Given the description of an element on the screen output the (x, y) to click on. 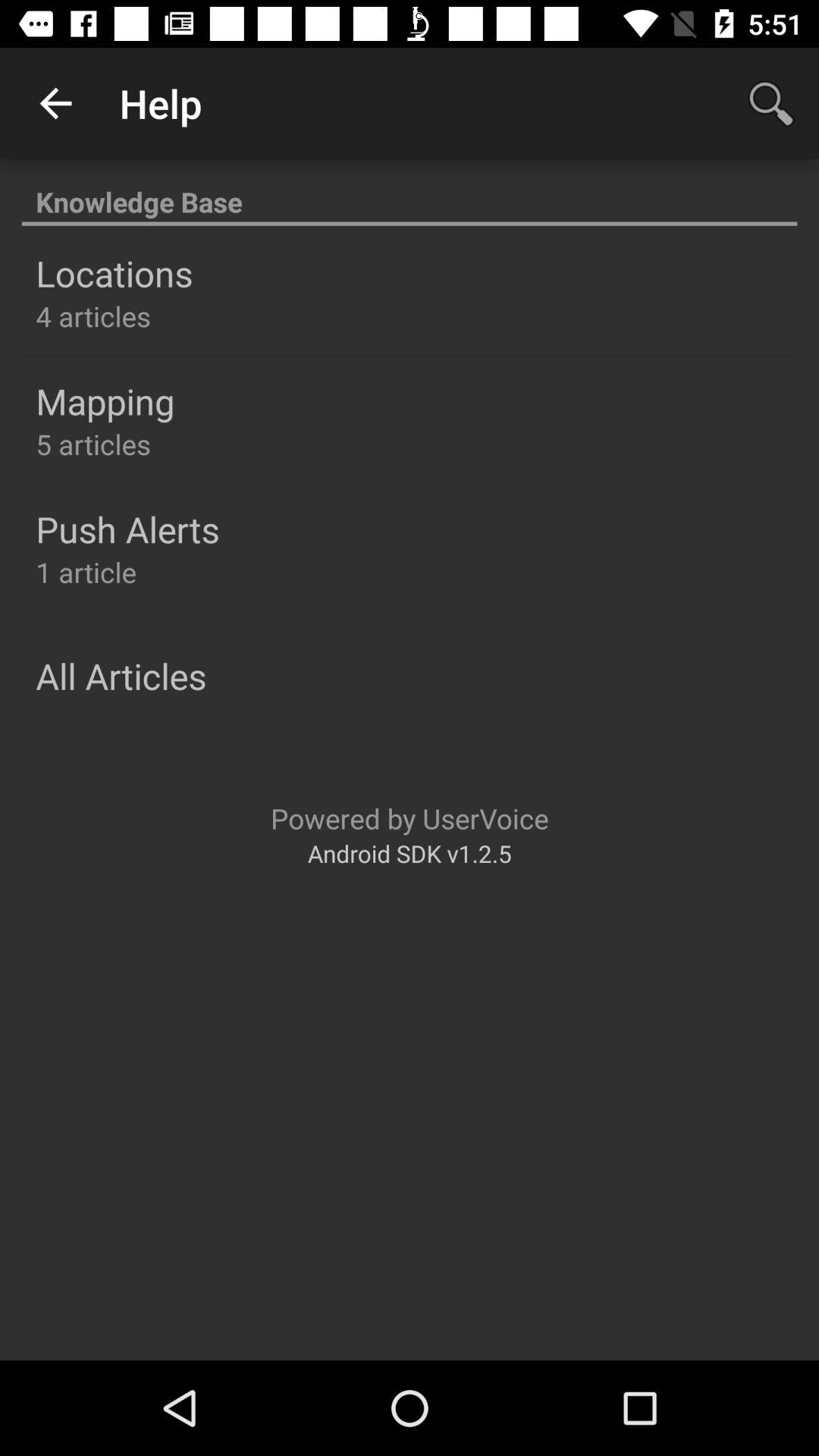
scroll to the android sdk v1 (409, 853)
